Given the description of an element on the screen output the (x, y) to click on. 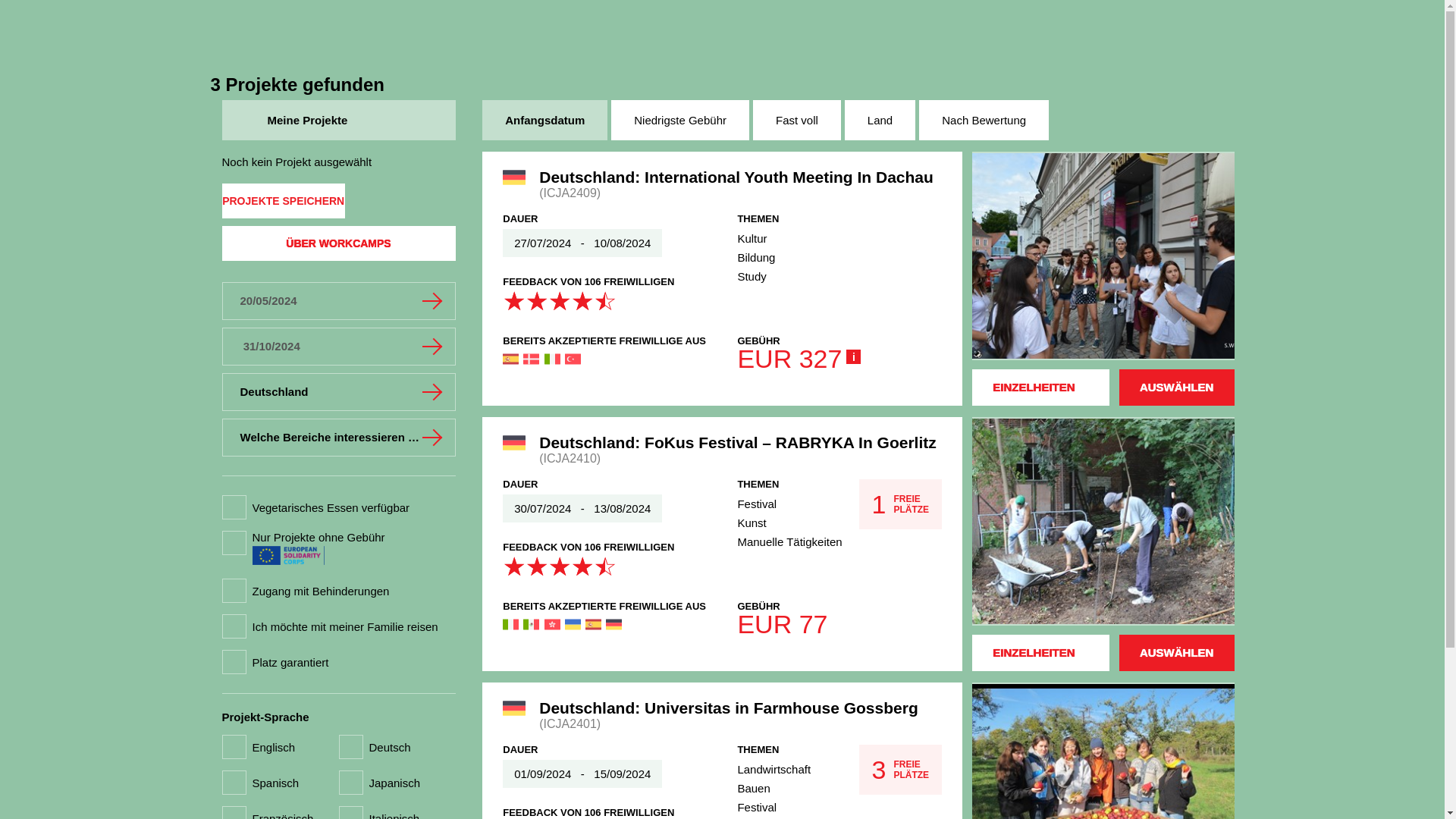
Hong Kong (552, 624)
Spanien (593, 624)
Italien (510, 624)
Deutschland (613, 624)
Ukraine (572, 624)
Deutschland: International Youth Meeting In Dachau (740, 177)
Spanien (510, 358)
Welche Bereiche interessieren dich? (337, 437)
Bewertungen (558, 300)
PROJEKTE SPEICHERN (282, 200)
Italien (552, 358)
Bewertungen (558, 566)
Mexiko (530, 624)
